Given the description of an element on the screen output the (x, y) to click on. 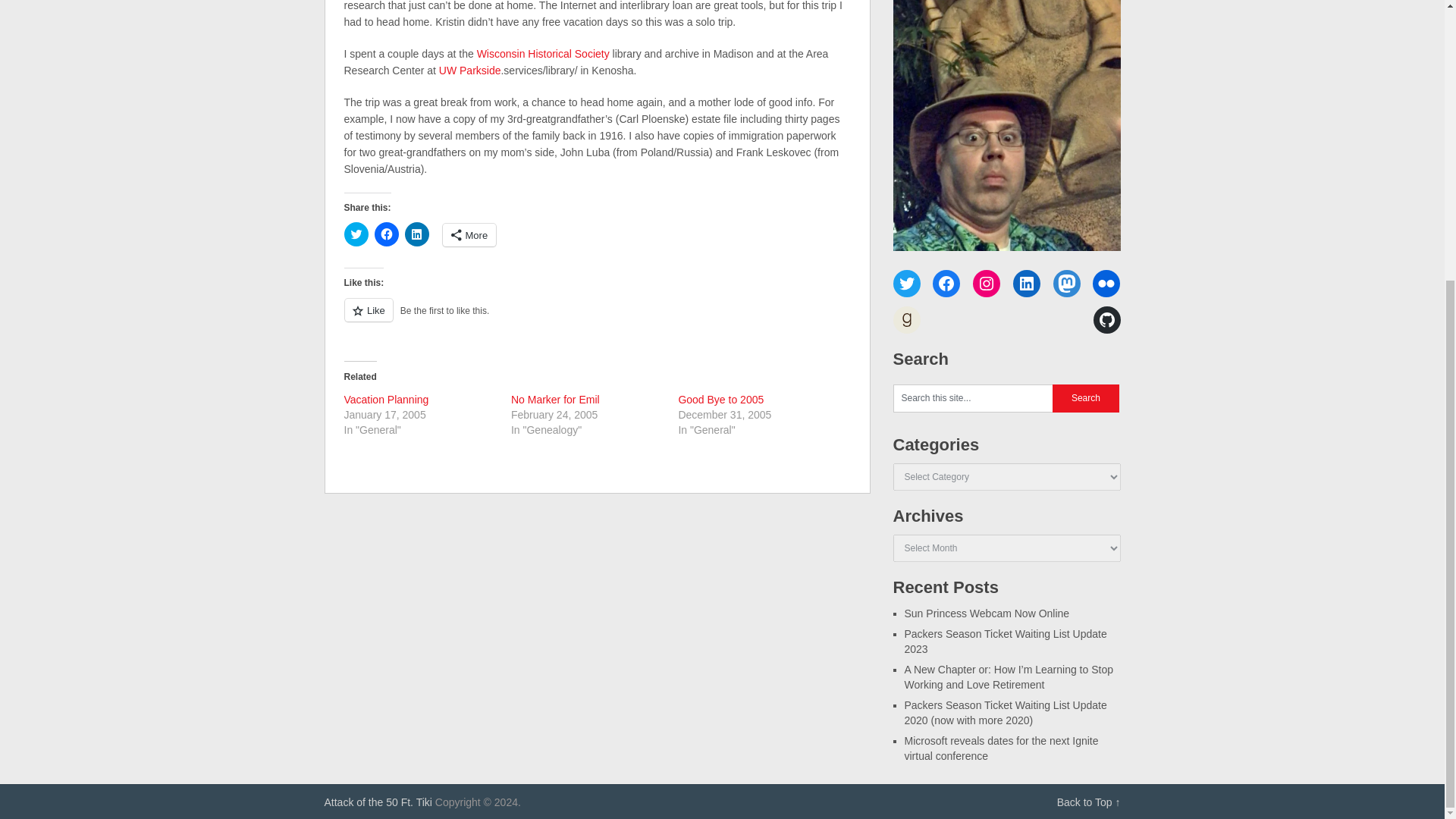
Click to share on LinkedIn (416, 233)
More (469, 234)
Wisconsin Historical Society (543, 53)
Search this site... (972, 398)
Click to share on Twitter (355, 233)
Vacation Planning (386, 399)
Click to share on Facebook (386, 233)
Search (1085, 398)
No Marker for Emil (555, 399)
Like or Reblog (596, 318)
Good Bye to 2005 (720, 399)
UW Parkside (469, 70)
